Given the description of an element on the screen output the (x, y) to click on. 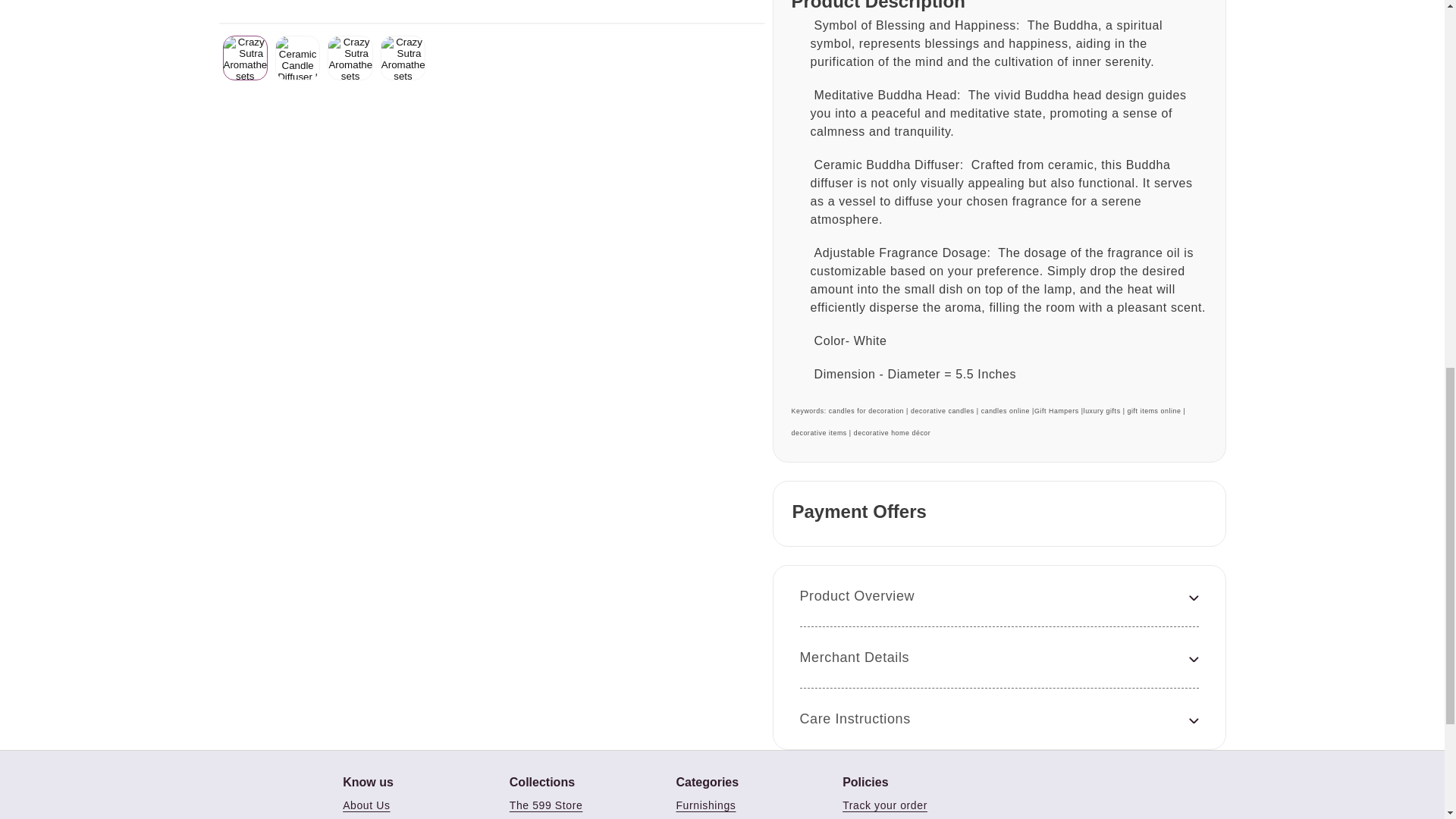
1 (986, 157)
Crazy Sutra (235, 168)
